Given the description of an element on the screen output the (x, y) to click on. 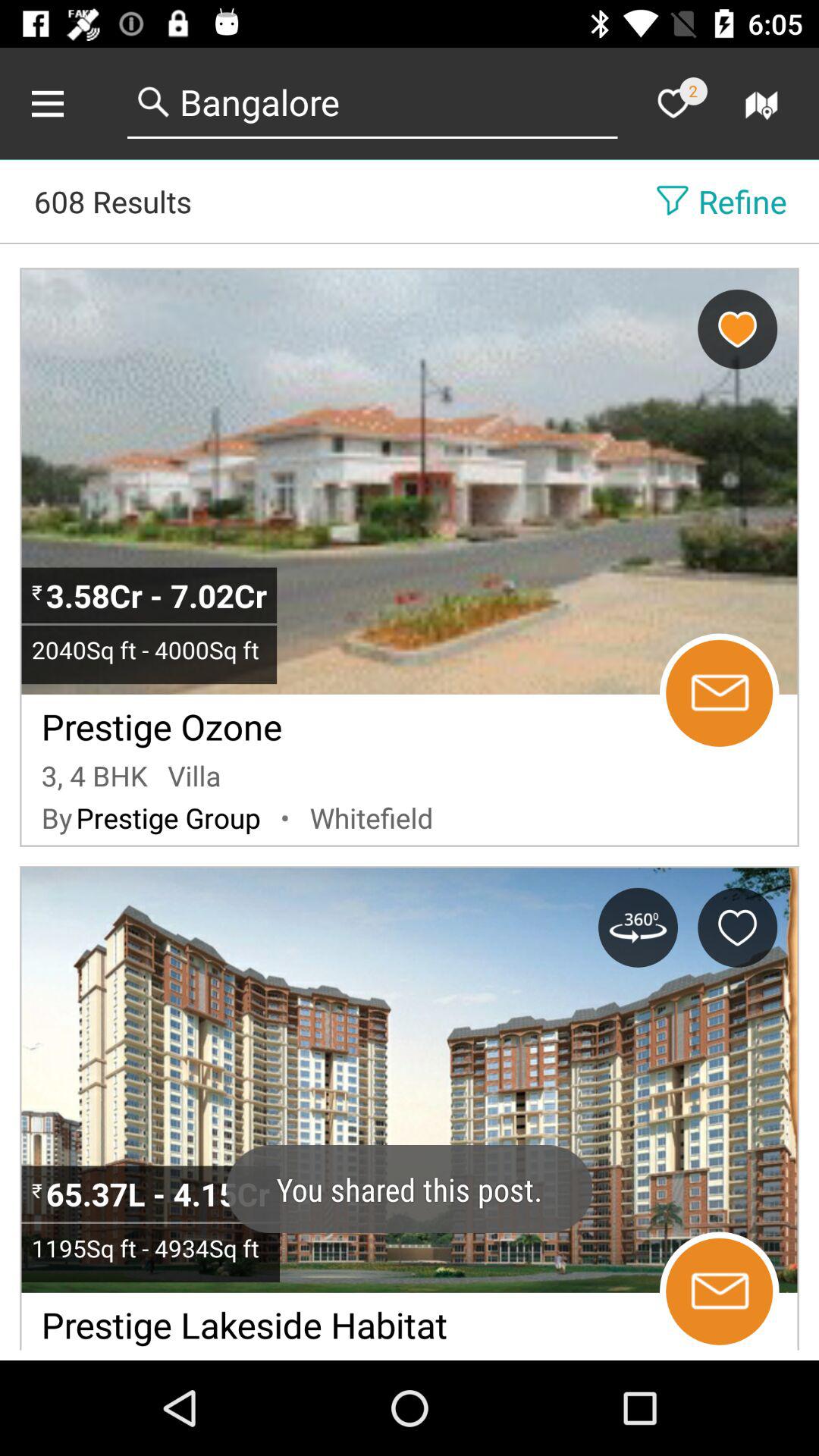
turn on the prestige group (168, 817)
